Given the description of an element on the screen output the (x, y) to click on. 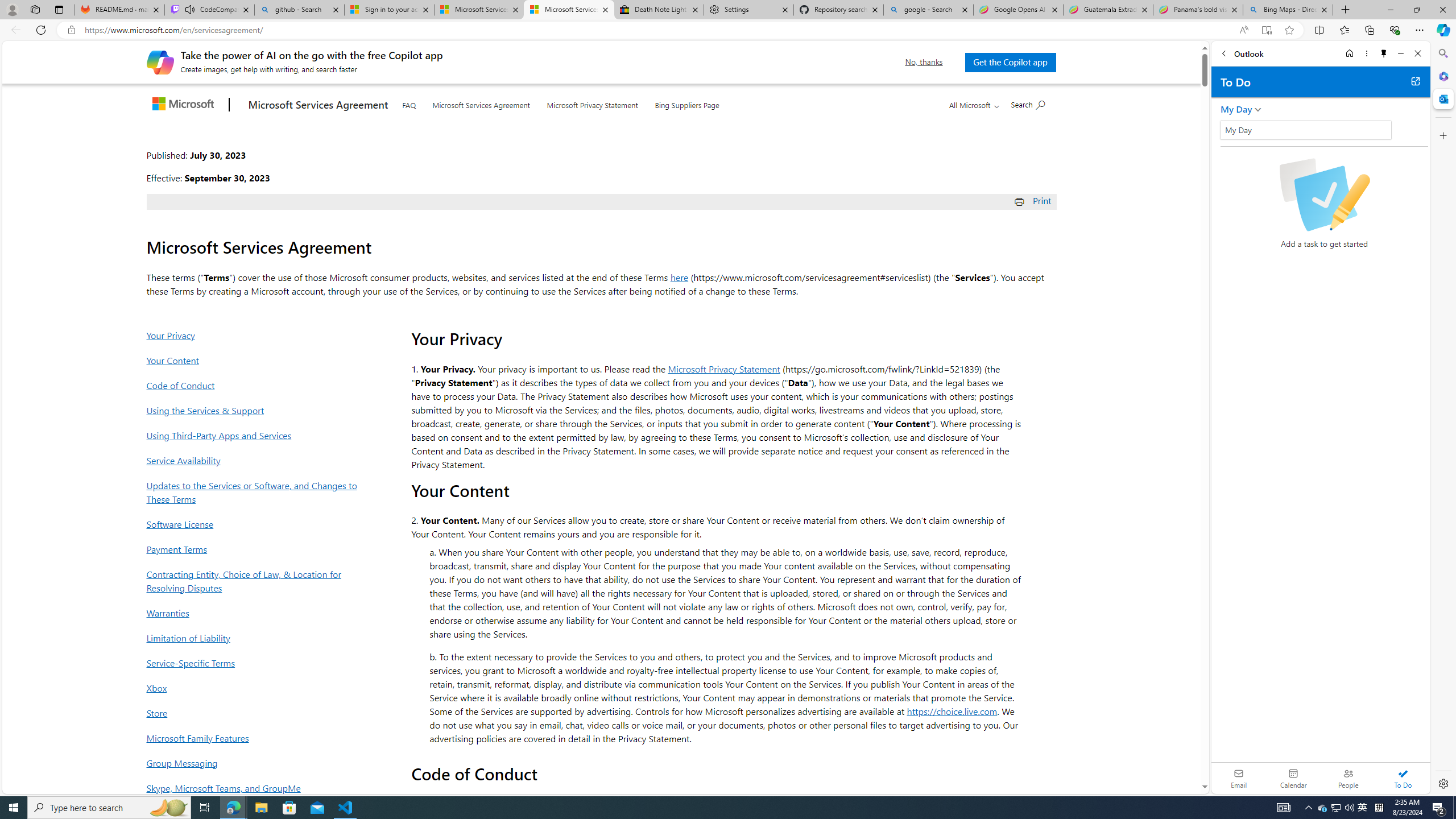
Bing Suppliers Page (686, 103)
Warranties (254, 612)
Your Privacy (254, 335)
Get the Copilot app  (1009, 62)
Your Content (254, 359)
Search Microsoft.com (1027, 103)
Microsoft Privacy Statement (724, 368)
Software License (254, 523)
